Given the description of an element on the screen output the (x, y) to click on. 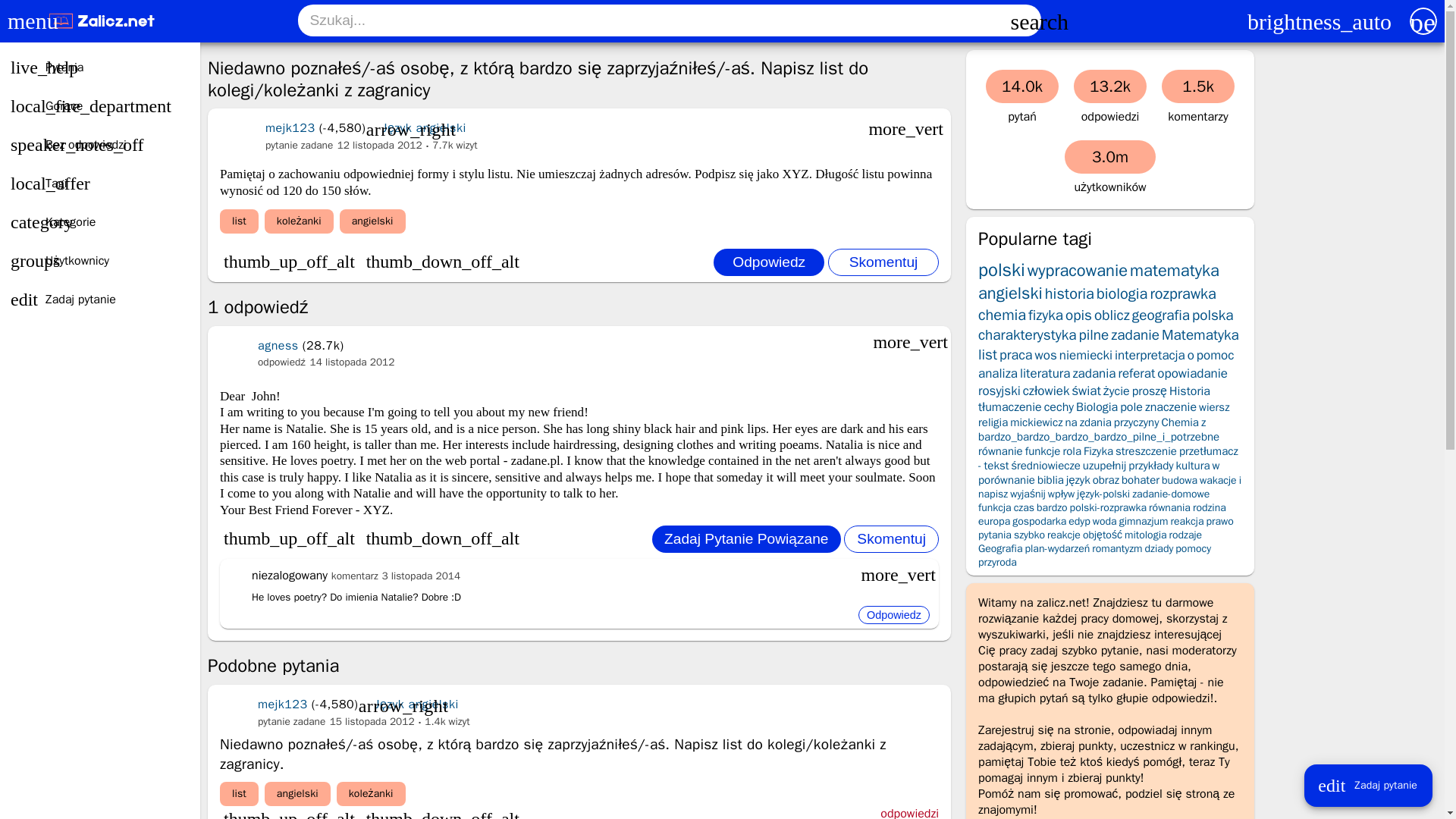
Bez odpowiedzi (98, 144)
Pytania (98, 67)
odpowiedz (894, 615)
odpowiedz (768, 262)
Kategorie (98, 222)
skomentuj (883, 262)
skomentuj (883, 262)
System default (1319, 21)
skomentuj (891, 538)
Tagi (98, 183)
